Given the description of an element on the screen output the (x, y) to click on. 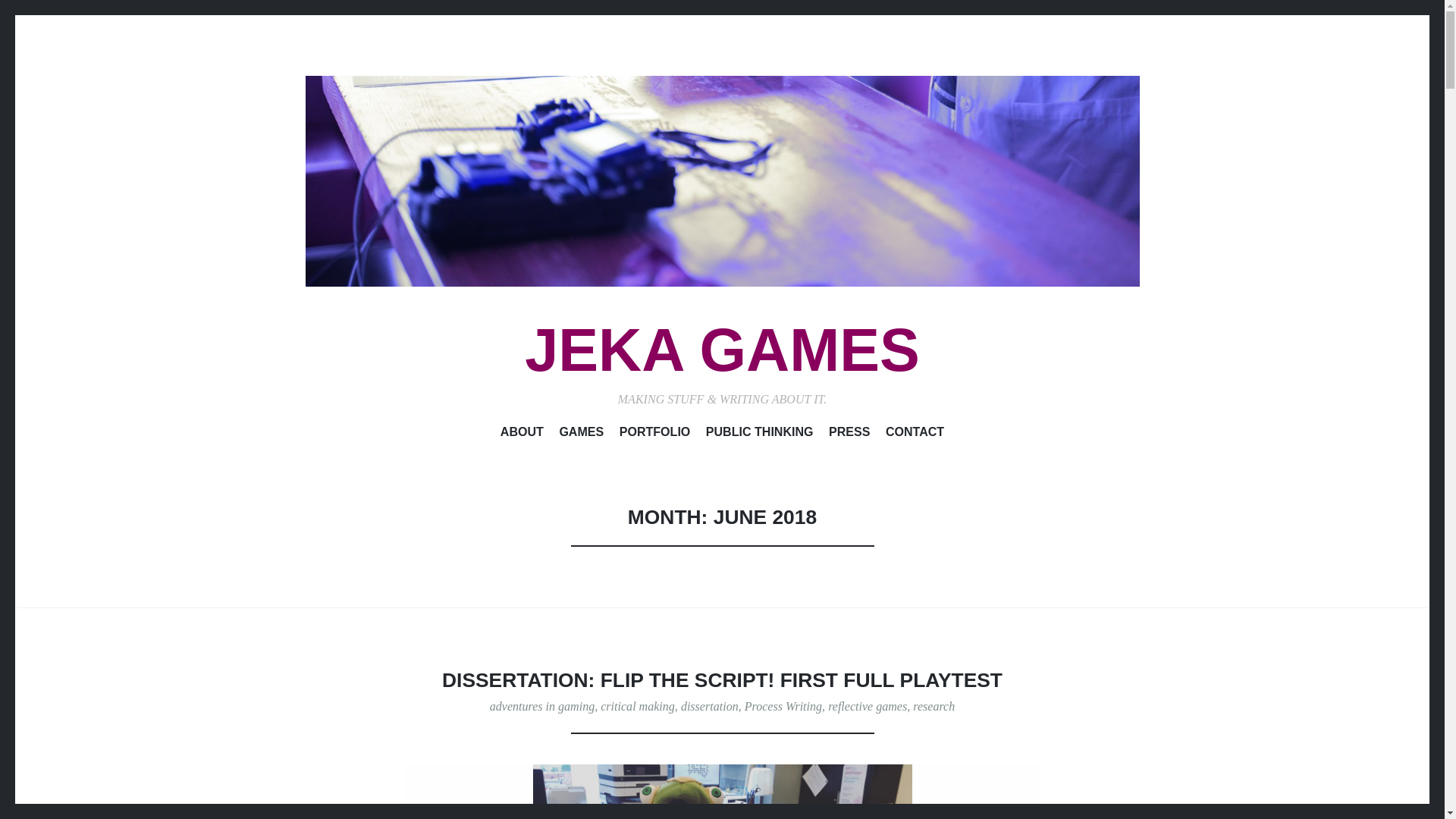
CONTACT (914, 434)
reflective games (867, 706)
critical making (637, 706)
JEKA GAMES (722, 349)
adventures in gaming (541, 706)
PORTFOLIO (655, 434)
DISSERTATION: FLIP THE SCRIPT! FIRST FULL PLAYTEST (722, 680)
GAMES (581, 434)
PRESS (848, 434)
dissertation (709, 706)
Process Writing (783, 706)
PUBLIC THINKING (759, 434)
research (933, 706)
